Given the description of an element on the screen output the (x, y) to click on. 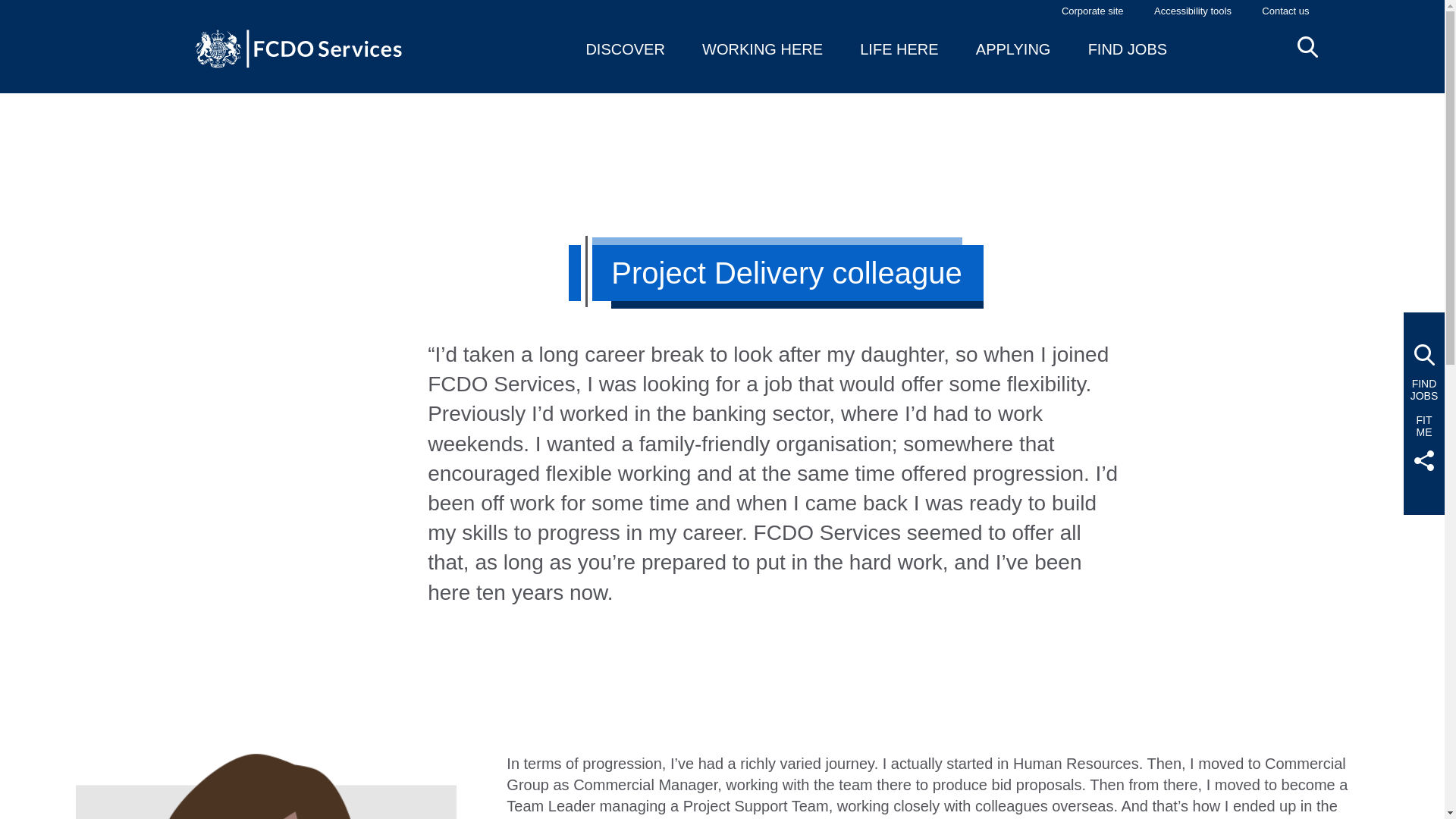
APPLYING (1013, 48)
Contact us (1285, 10)
Accessibility tools (1192, 10)
Accessibility tools (1192, 10)
WORKING HERE (761, 48)
Contact Us (1285, 10)
DISCOVER (624, 48)
LIFE HERE (898, 48)
Search (1307, 46)
SEARCH (1307, 46)
Find Jobs (1424, 389)
FCDO Services (1092, 10)
Corporate site (1092, 10)
FIND JOBS (1127, 48)
